Given the description of an element on the screen output the (x, y) to click on. 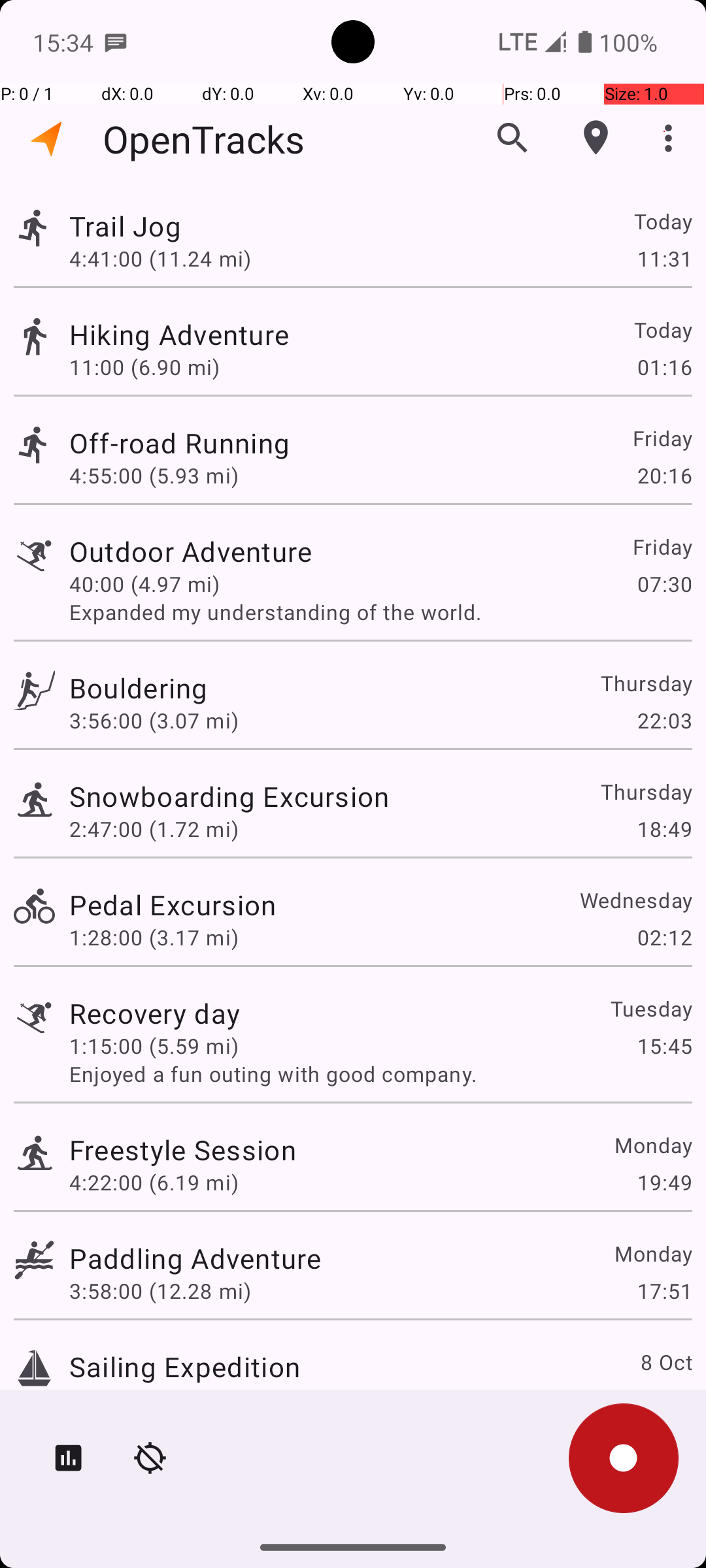
Trail Jog Element type: android.widget.TextView (124, 225)
4:41:00 (11.24 mi) Element type: android.widget.TextView (159, 258)
11:31 Element type: android.widget.TextView (664, 258)
Hiking Adventure Element type: android.widget.TextView (178, 333)
11:00 (6.90 mi) Element type: android.widget.TextView (144, 366)
01:16 Element type: android.widget.TextView (664, 366)
Off-road Running Element type: android.widget.TextView (179, 442)
4:55:00 (5.93 mi) Element type: android.widget.TextView (153, 475)
20:16 Element type: android.widget.TextView (664, 475)
Outdoor Adventure Element type: android.widget.TextView (190, 550)
40:00 (4.97 mi) Element type: android.widget.TextView (144, 583)
07:30 Element type: android.widget.TextView (664, 583)
Expanded my understanding of the world. Element type: android.widget.TextView (380, 611)
Bouldering Element type: android.widget.TextView (138, 687)
3:56:00 (3.07 mi) Element type: android.widget.TextView (153, 720)
22:03 Element type: android.widget.TextView (664, 720)
Snowboarding Excursion Element type: android.widget.TextView (229, 795)
2:47:00 (1.72 mi) Element type: android.widget.TextView (153, 828)
18:49 Element type: android.widget.TextView (664, 828)
Pedal Excursion Element type: android.widget.TextView (172, 904)
1:28:00 (3.17 mi) Element type: android.widget.TextView (153, 937)
02:12 Element type: android.widget.TextView (664, 937)
Recovery day Element type: android.widget.TextView (154, 1012)
1:15:00 (5.59 mi) Element type: android.widget.TextView (153, 1045)
15:45 Element type: android.widget.TextView (664, 1045)
Enjoyed a fun outing with good company. Element type: android.widget.TextView (380, 1073)
Freestyle Session Element type: android.widget.TextView (182, 1149)
4:22:00 (6.19 mi) Element type: android.widget.TextView (153, 1182)
19:49 Element type: android.widget.TextView (664, 1182)
Paddling Adventure Element type: android.widget.TextView (194, 1257)
3:58:00 (12.28 mi) Element type: android.widget.TextView (159, 1290)
17:51 Element type: android.widget.TextView (664, 1290)
Sailing Expedition Element type: android.widget.TextView (184, 1366)
28:00 (3.56 mi) Element type: android.widget.TextView (144, 1399)
23:17 Element type: android.widget.TextView (664, 1399)
